Given the description of an element on the screen output the (x, y) to click on. 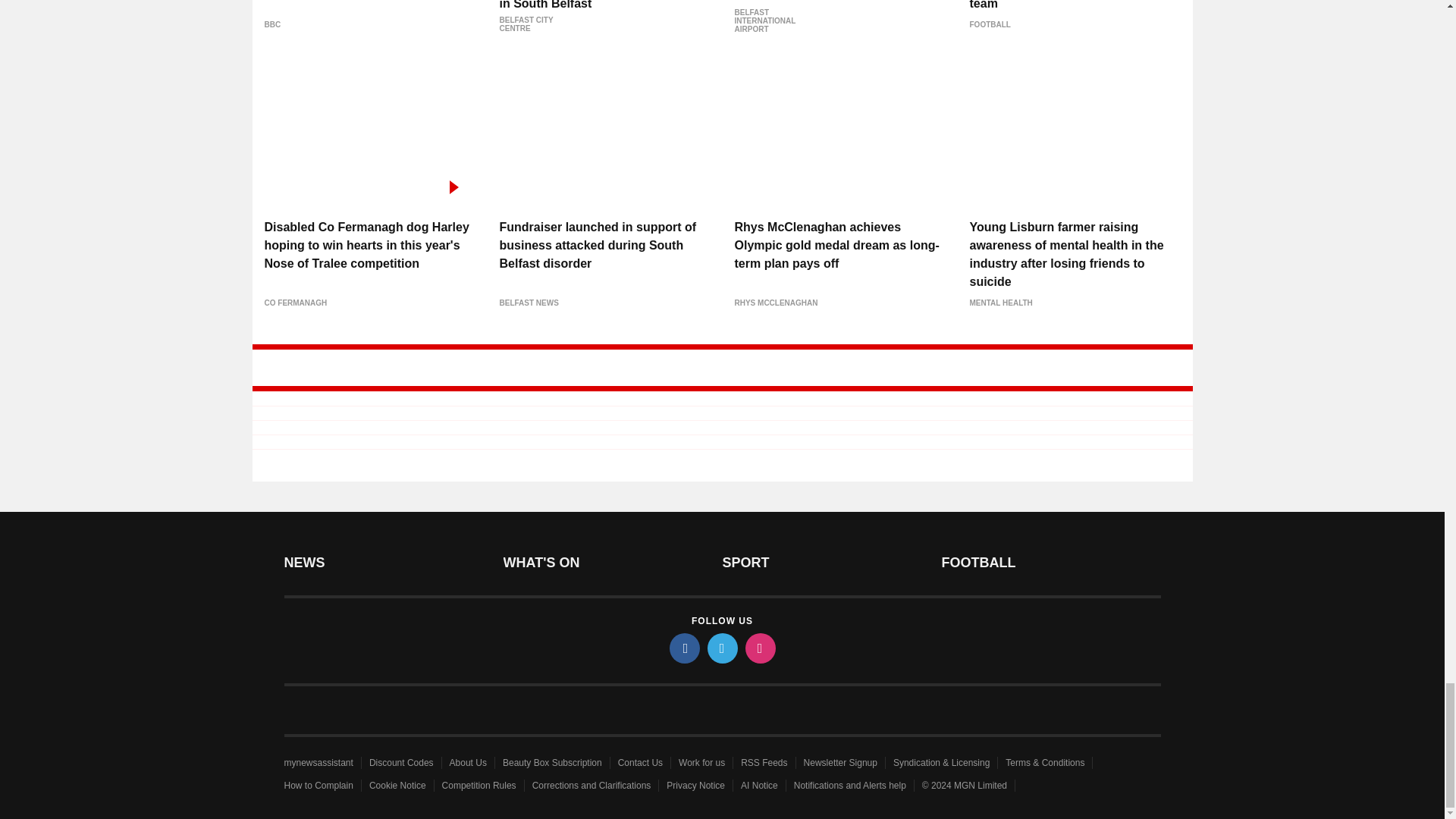
twitter (721, 648)
instagram (759, 648)
facebook (683, 648)
